Given the description of an element on the screen output the (x, y) to click on. 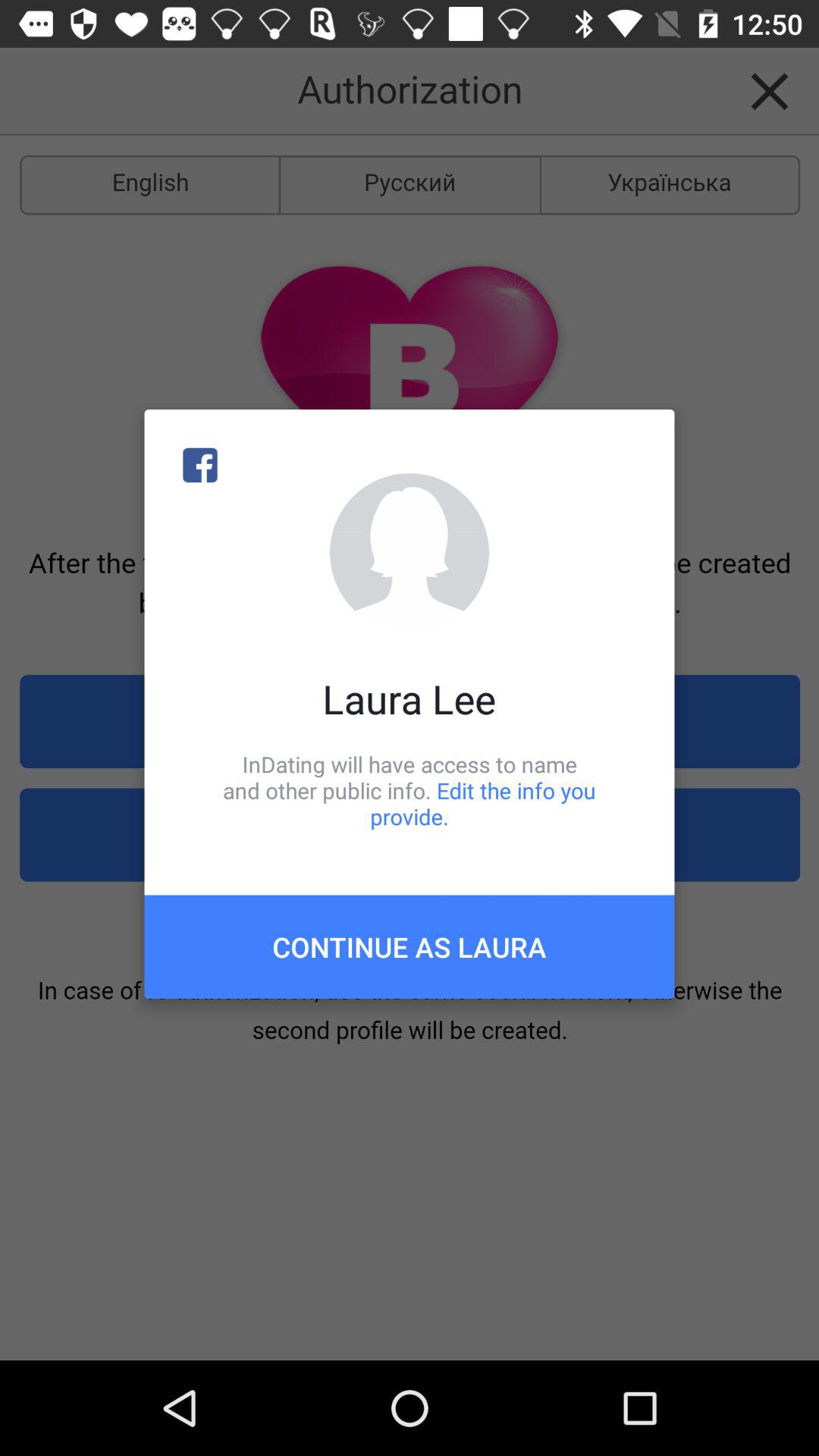
click the icon above the continue as laura (409, 790)
